Given the description of an element on the screen output the (x, y) to click on. 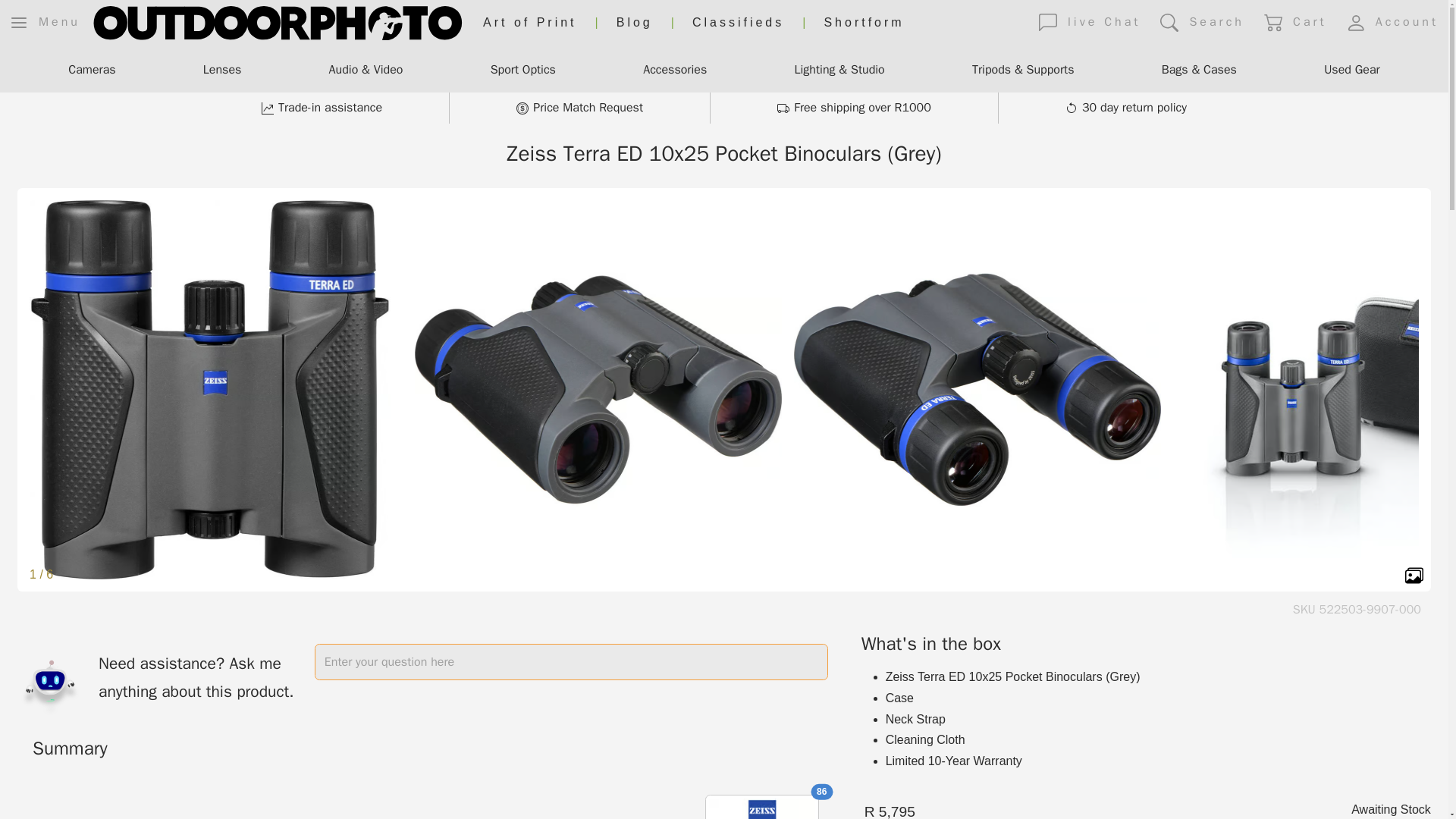
Accessories (674, 70)
Used Gear (1351, 70)
Outdoorphoto (277, 22)
Trade-in assistance (322, 108)
SKU 522503-9907-000 (1356, 610)
Used Gear (1351, 70)
Classifieds (738, 22)
Free shipping over R1000 (854, 108)
Cart (1294, 22)
